Given the description of an element on the screen output the (x, y) to click on. 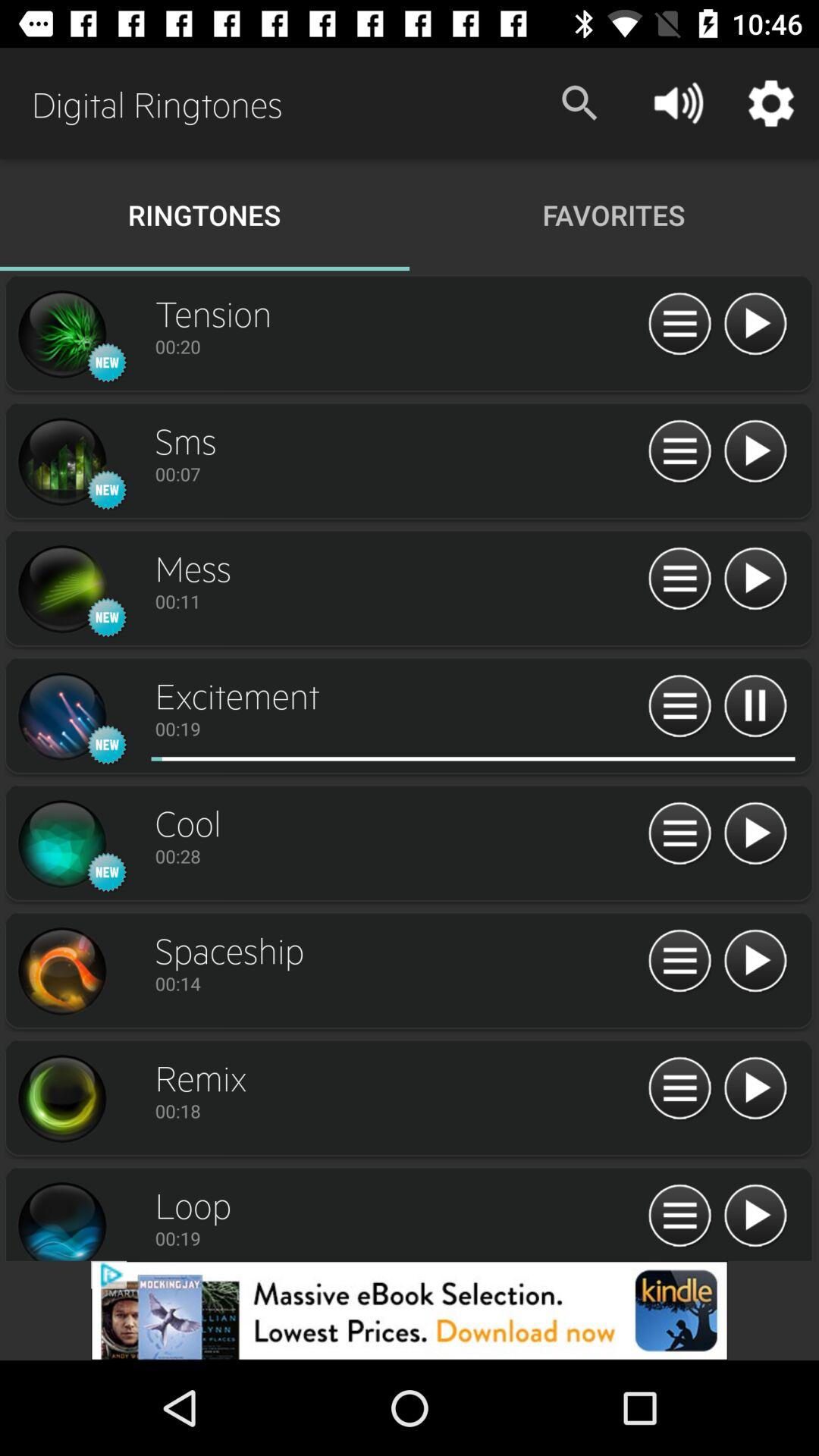
advatisment (409, 1310)
